Given the description of an element on the screen output the (x, y) to click on. 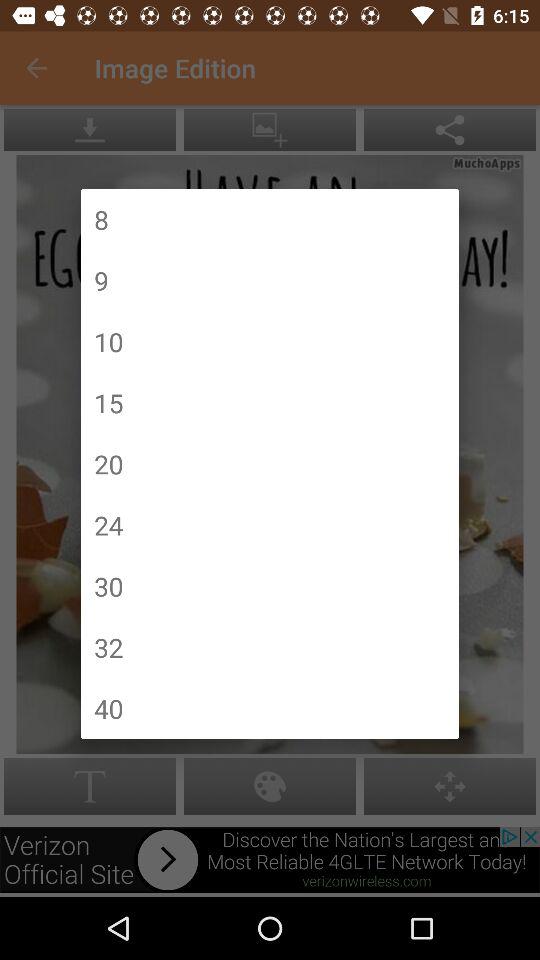
jump to the 9 (101, 280)
